Given the description of an element on the screen output the (x, y) to click on. 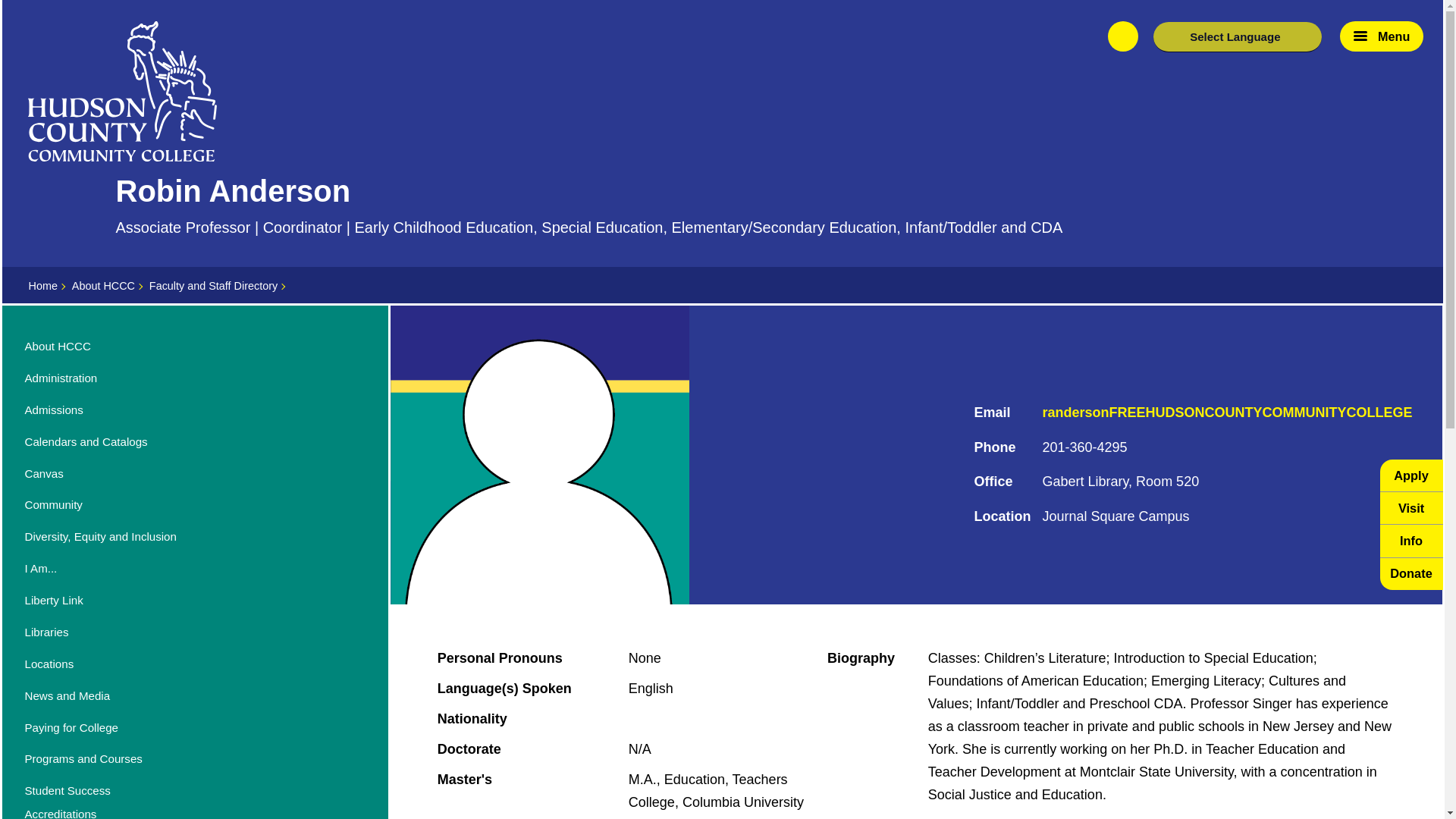
search (1123, 36)
Hudson County Community College Logo (121, 91)
Menu (1381, 36)
